Given the description of an element on the screen output the (x, y) to click on. 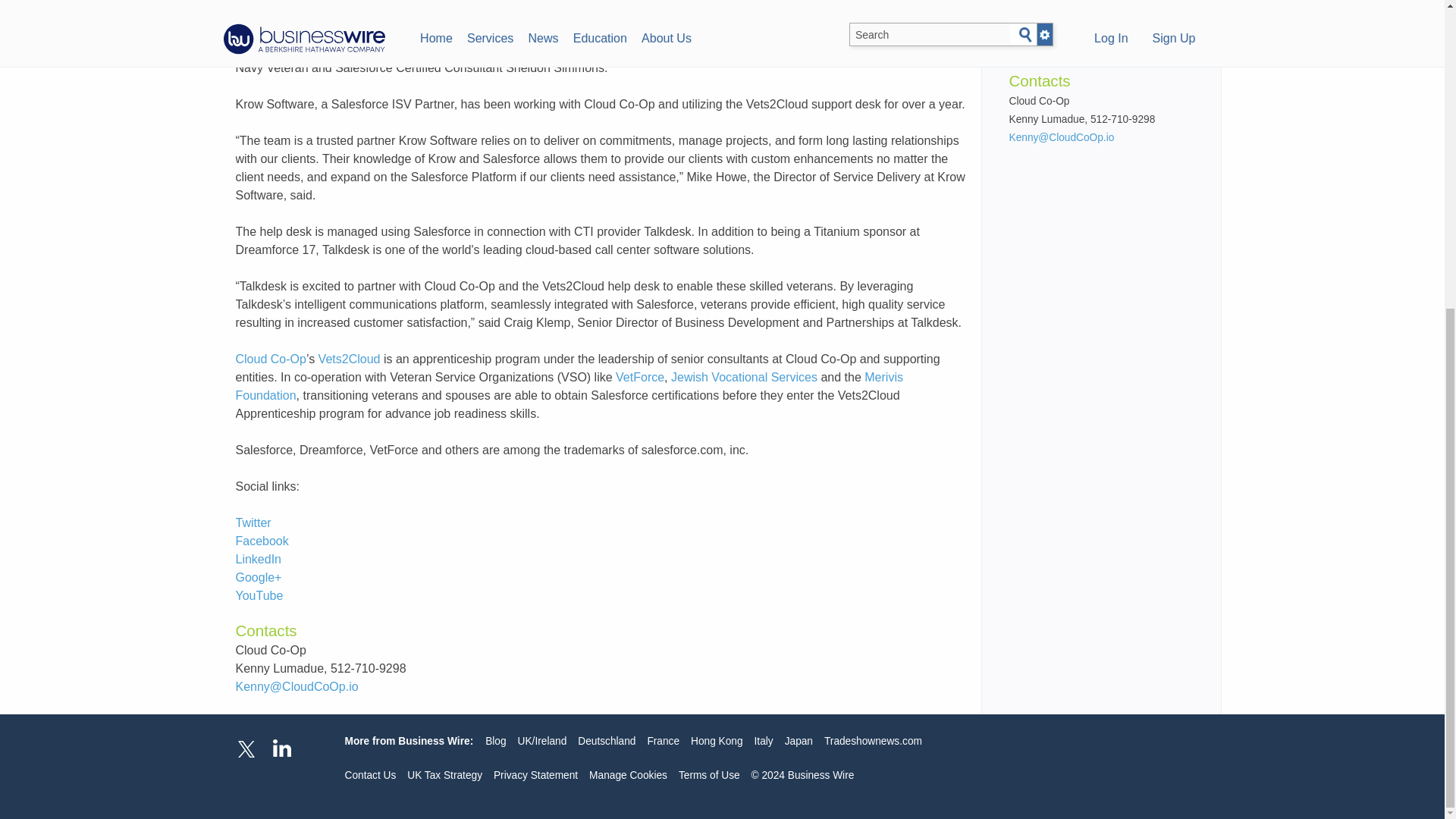
Vets2Cloud (437, 0)
Facebook (261, 540)
Cloud Co-Op (269, 358)
Jewish Vocational Services (743, 377)
Vets2Cloud (349, 358)
Twitter (252, 522)
YouTube (258, 594)
Merivis Foundation (568, 386)
VetForce (639, 377)
LinkedIn (257, 558)
